Given the description of an element on the screen output the (x, y) to click on. 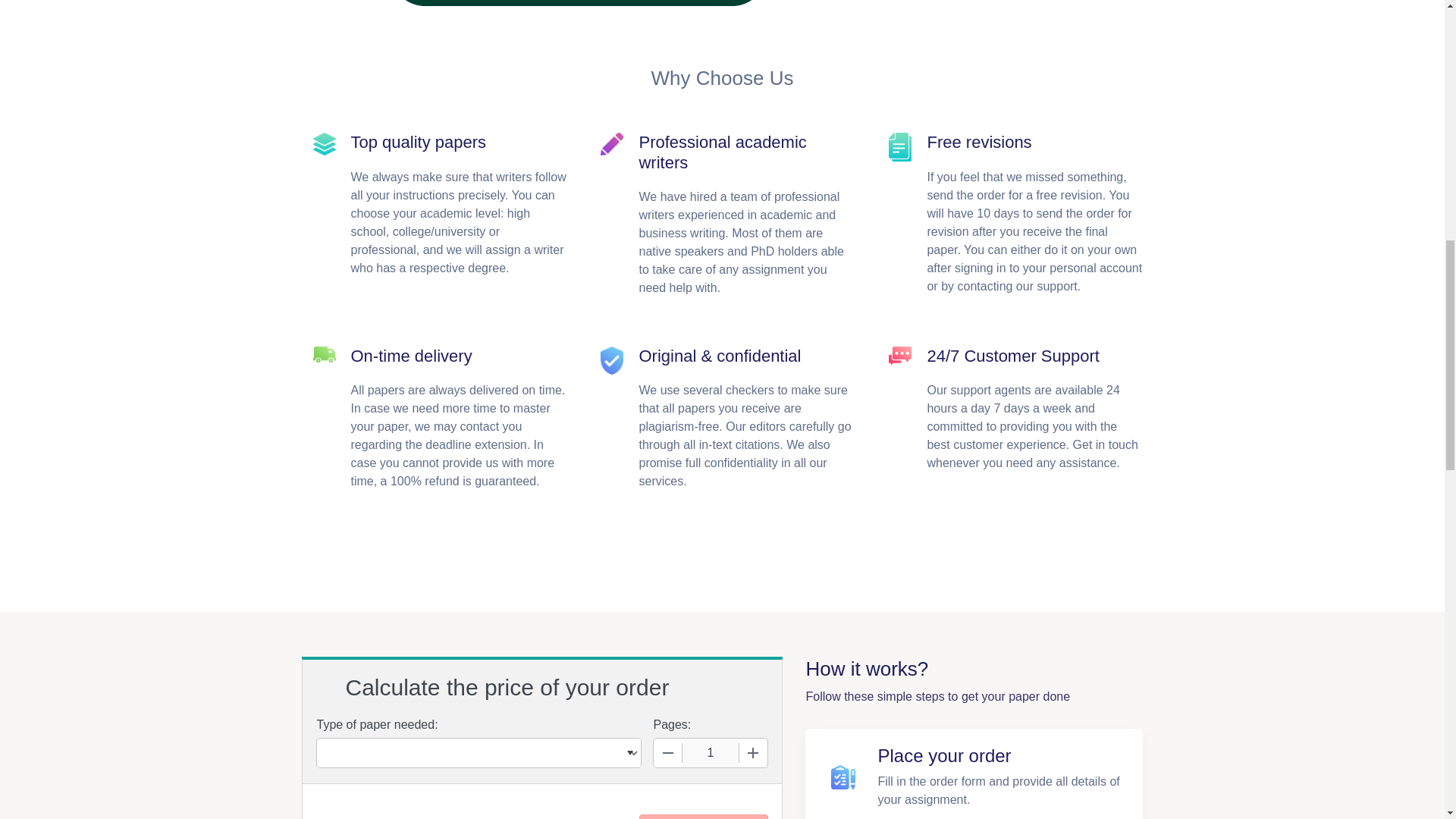
Increase (752, 752)
1 (710, 752)
Decrease (667, 752)
Continue to order (703, 816)
Continue to Order (703, 816)
Continue to order (703, 816)
